Given the description of an element on the screen output the (x, y) to click on. 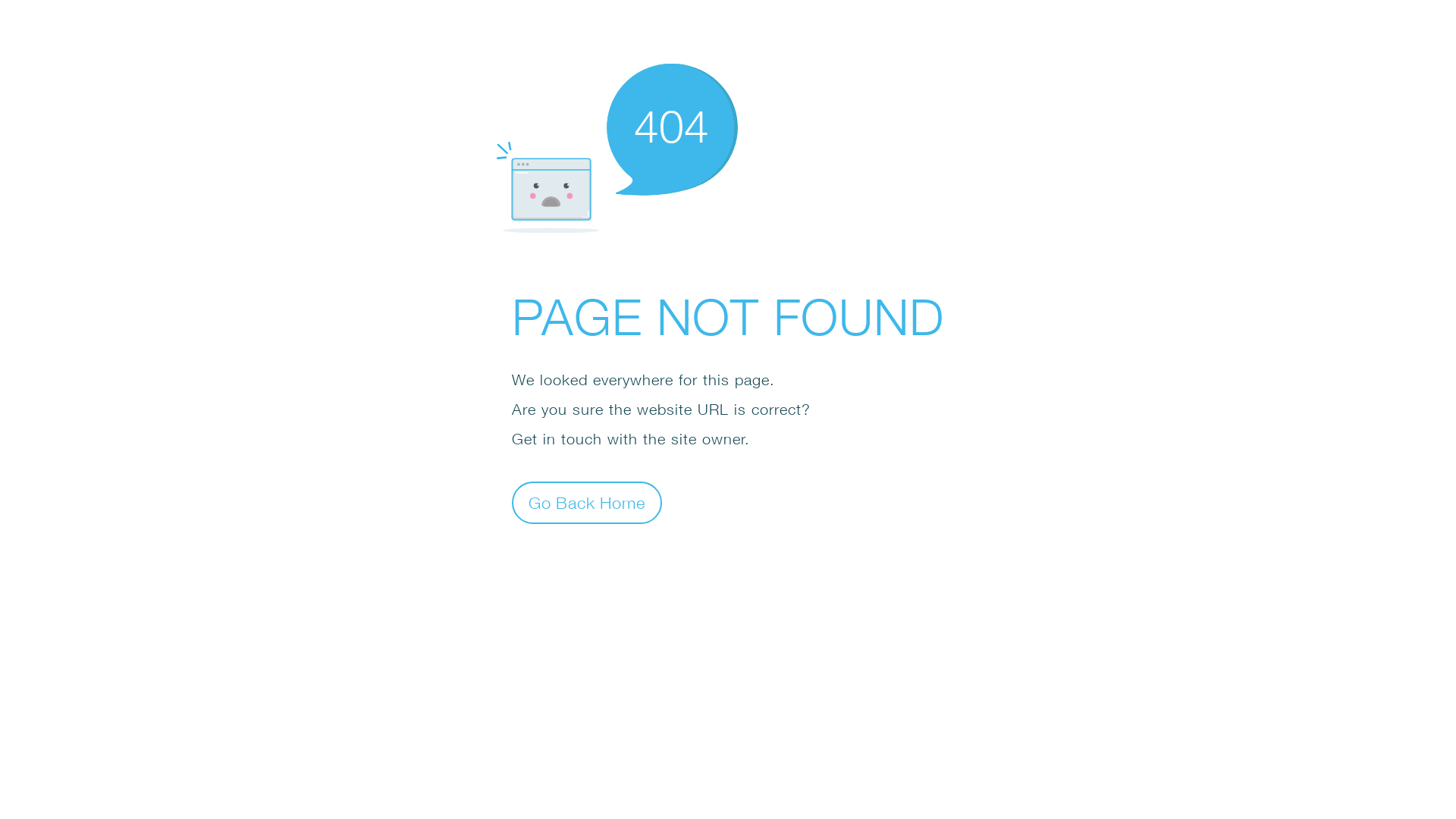
Go Back Home Element type: text (586, 502)
